Given the description of an element on the screen output the (x, y) to click on. 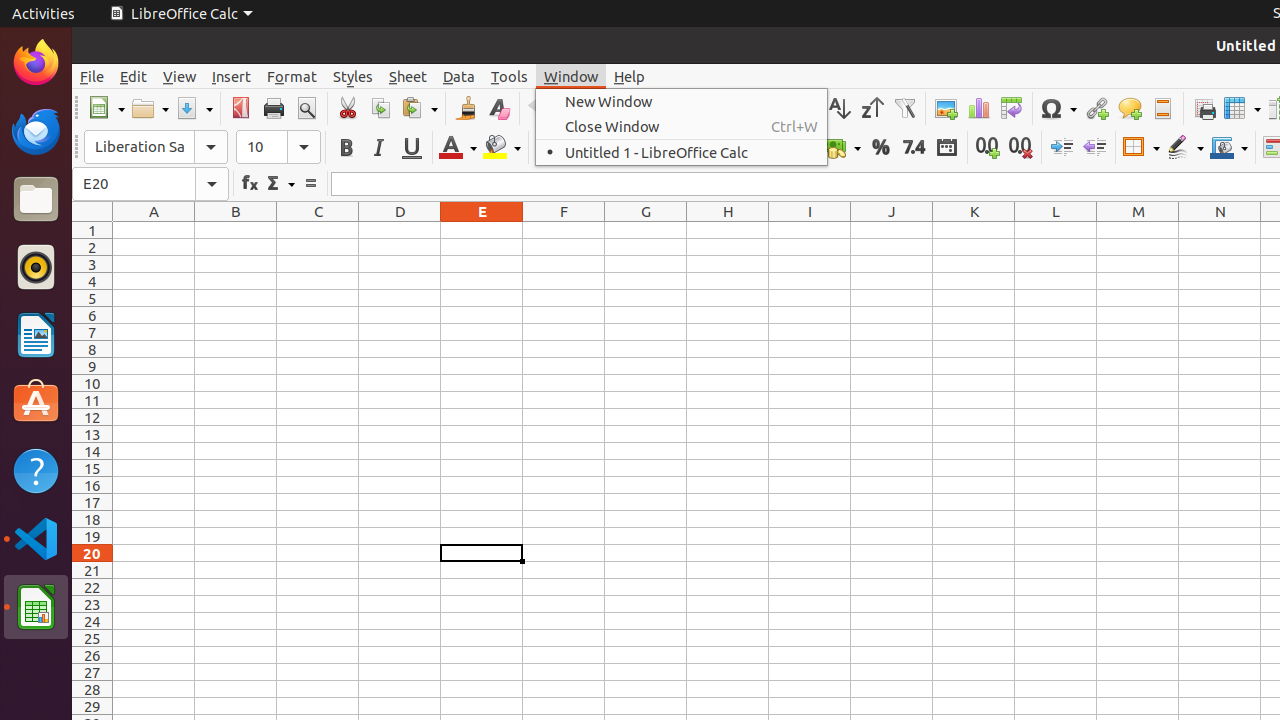
Paste Element type: push-button (419, 108)
Background Color Element type: push-button (502, 147)
N1 Element type: table-cell (1220, 230)
Date Element type: push-button (946, 147)
L1 Element type: table-cell (1056, 230)
